Given the description of an element on the screen output the (x, y) to click on. 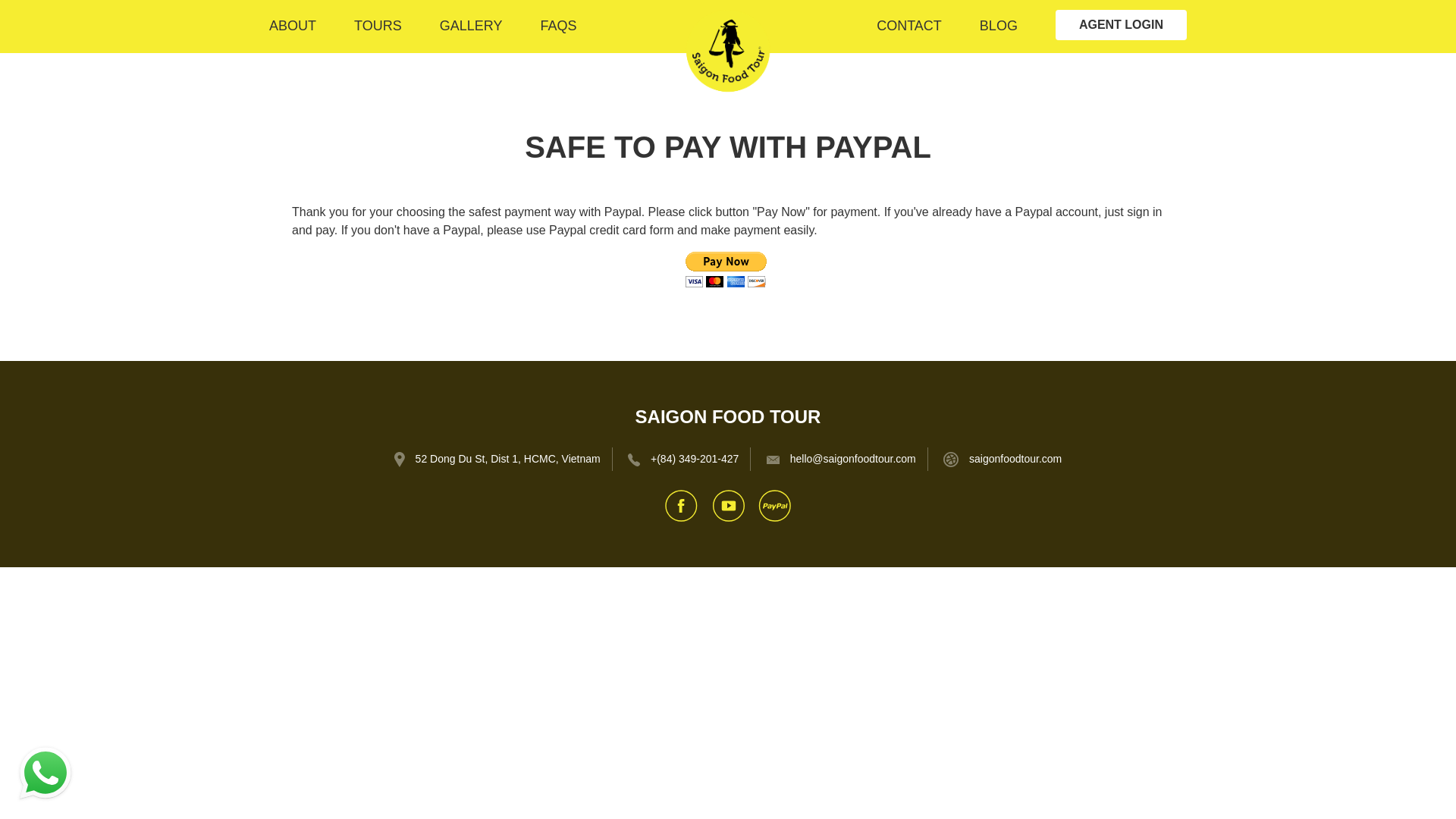
AGENT LOGIN (1120, 24)
ABOUT (292, 25)
FAQS (558, 25)
Logo (727, 50)
Youtube (727, 504)
Facebook (681, 504)
TOURS (377, 25)
GALLERY (470, 25)
CONTACT (909, 25)
Paypal (774, 504)
